Given the description of an element on the screen output the (x, y) to click on. 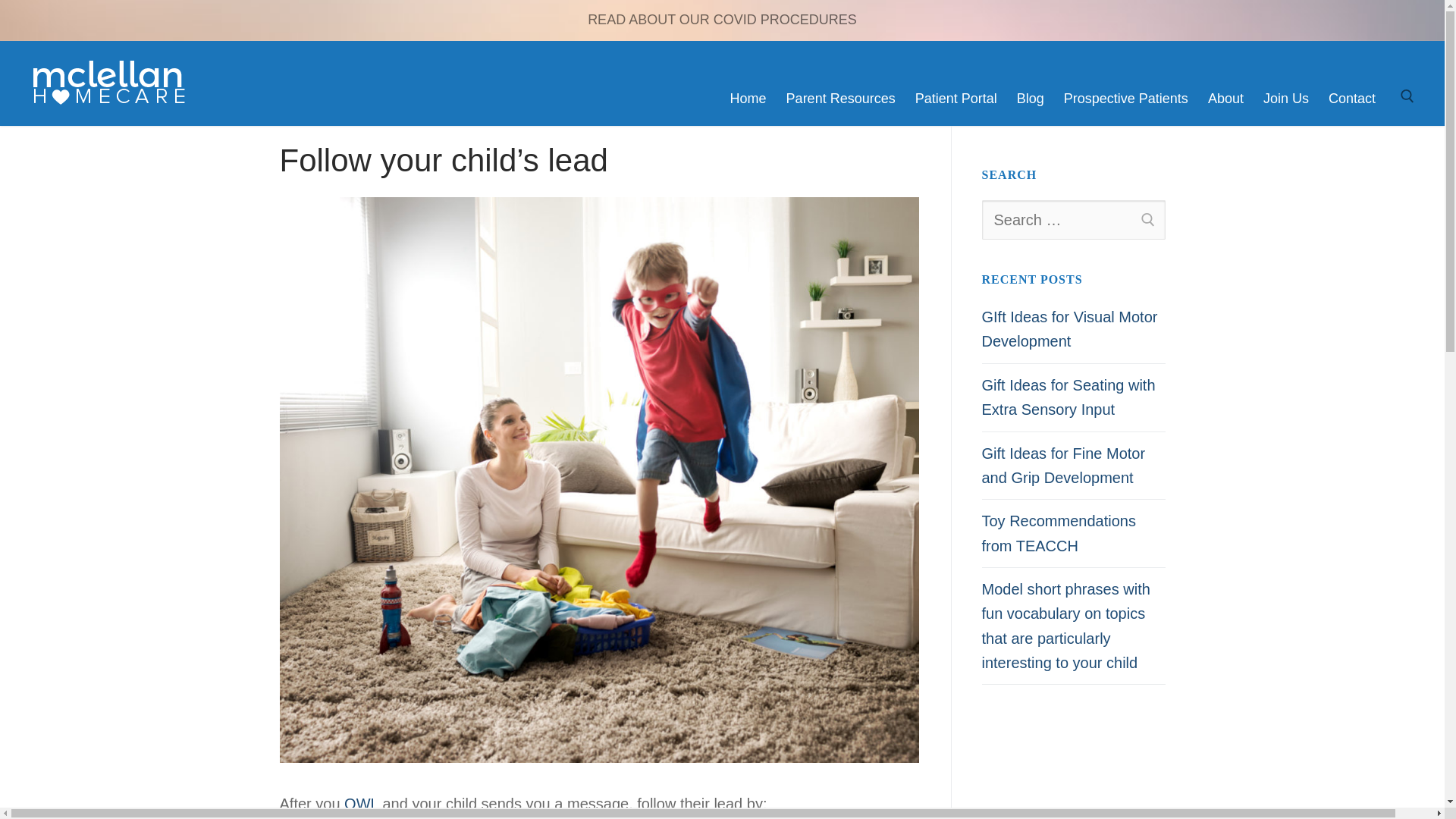
Parent Resources (840, 98)
Home (748, 98)
OWL (360, 803)
Patient Portal (956, 98)
READ ABOUT OUR COVID PROCEDURES (722, 19)
GIft Ideas for Visual Motor Development (1072, 333)
About (1225, 98)
Blog (1030, 98)
Gift Ideas for Fine Motor and Grip Development (1072, 470)
